Given the description of an element on the screen output the (x, y) to click on. 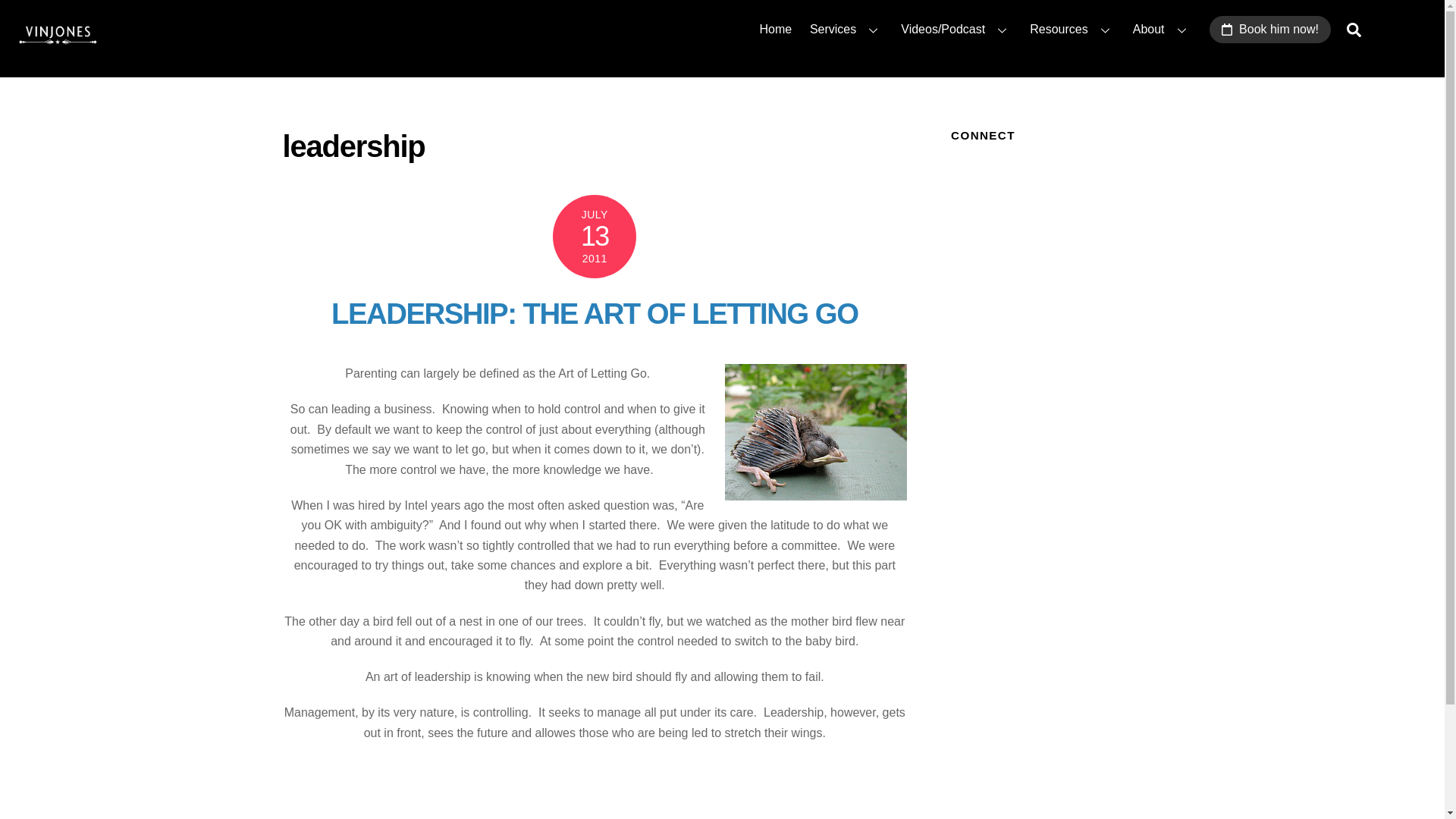
VINJONES (56, 47)
bird (816, 431)
Resources (1072, 29)
LEADERSHIP: THE ART OF LETTING GO (594, 313)
Home (775, 29)
Services (845, 29)
Book him now! (1269, 29)
Search (1353, 29)
About (1161, 29)
